Given the description of an element on the screen output the (x, y) to click on. 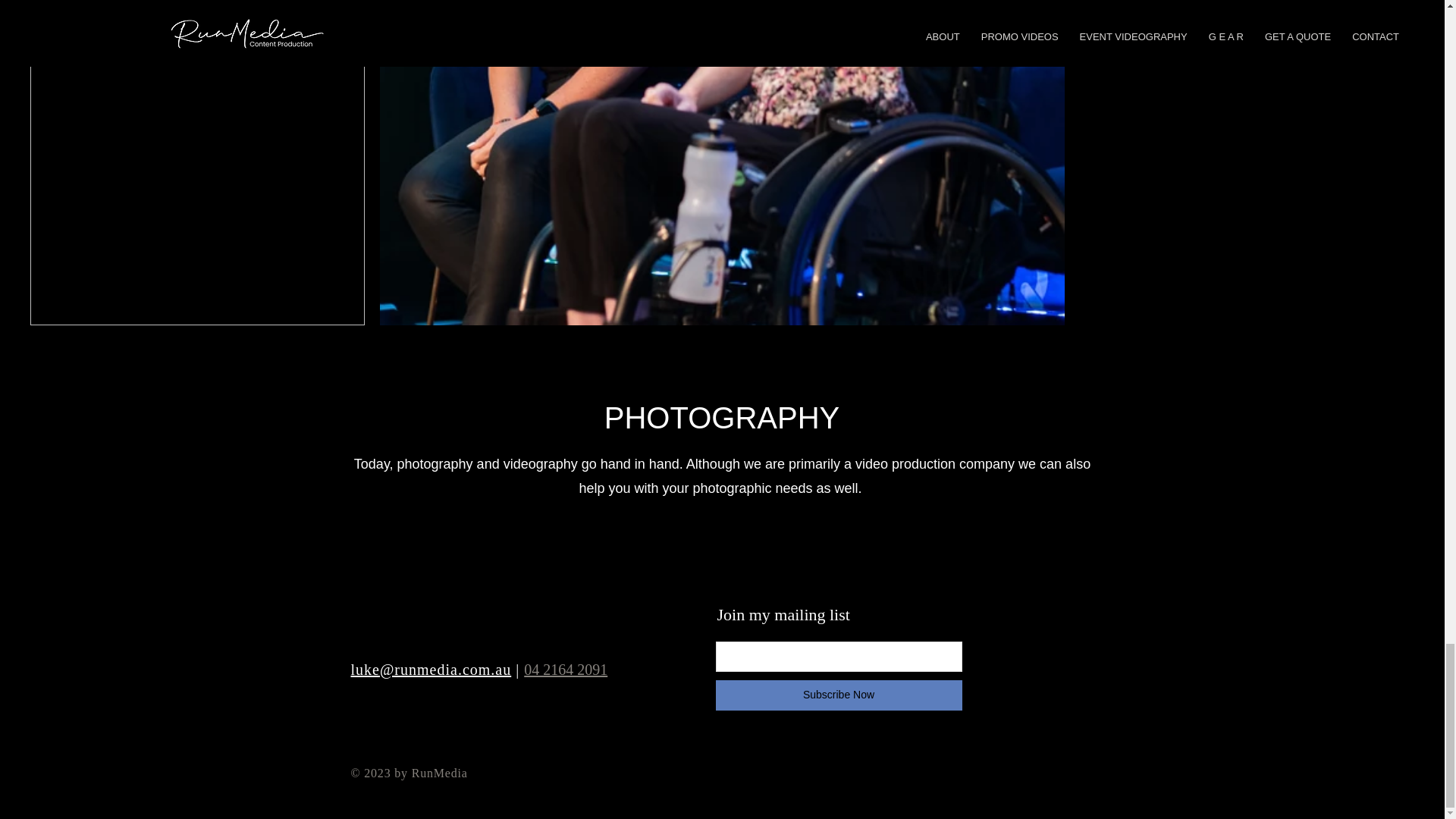
04 2164 2091 (565, 669)
Subscribe Now (839, 695)
